Given the description of an element on the screen output the (x, y) to click on. 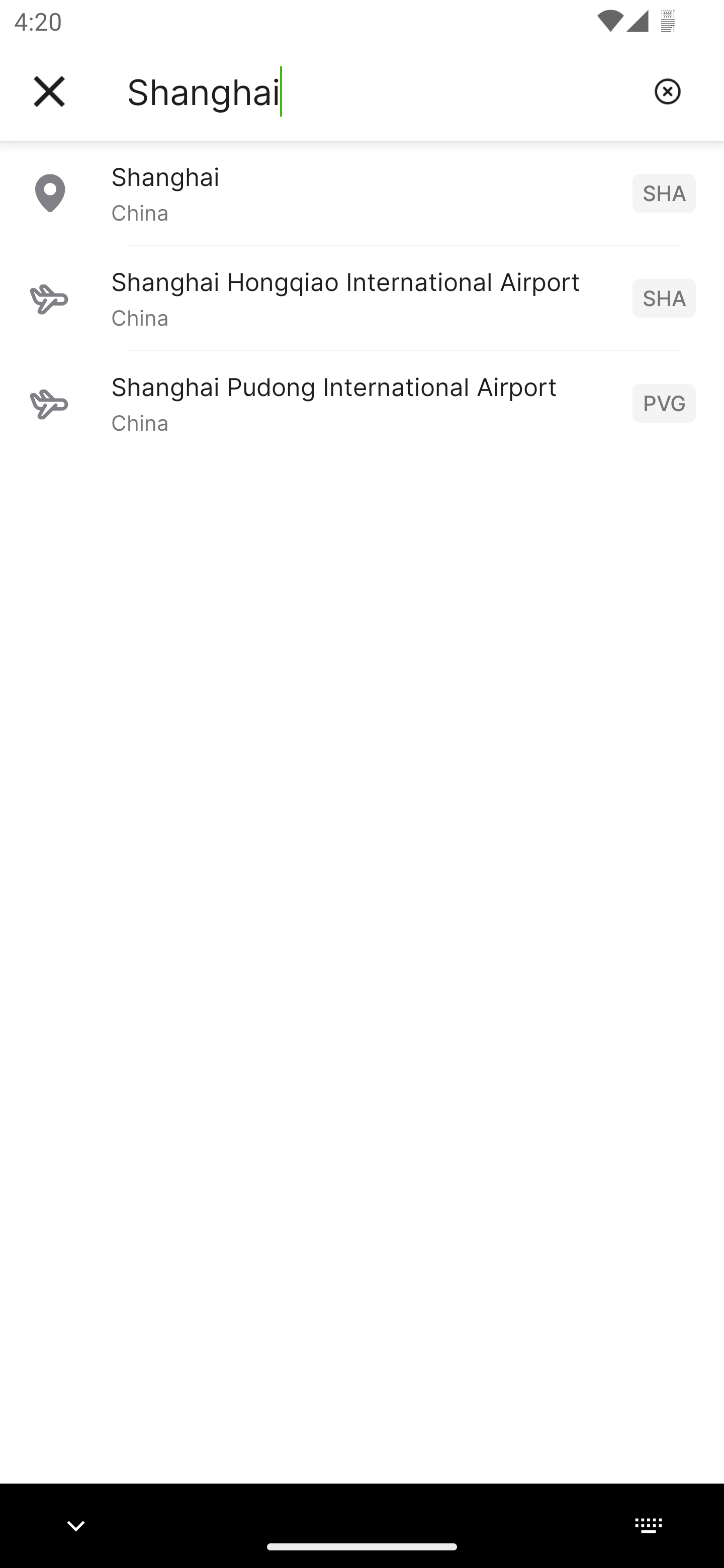
Shanghai (382, 91)
Shanghai China SHA (362, 192)
Shanghai Hongqiao International Airport China SHA (362, 297)
Shanghai Pudong International Airport China PVG (362, 402)
